Given the description of an element on the screen output the (x, y) to click on. 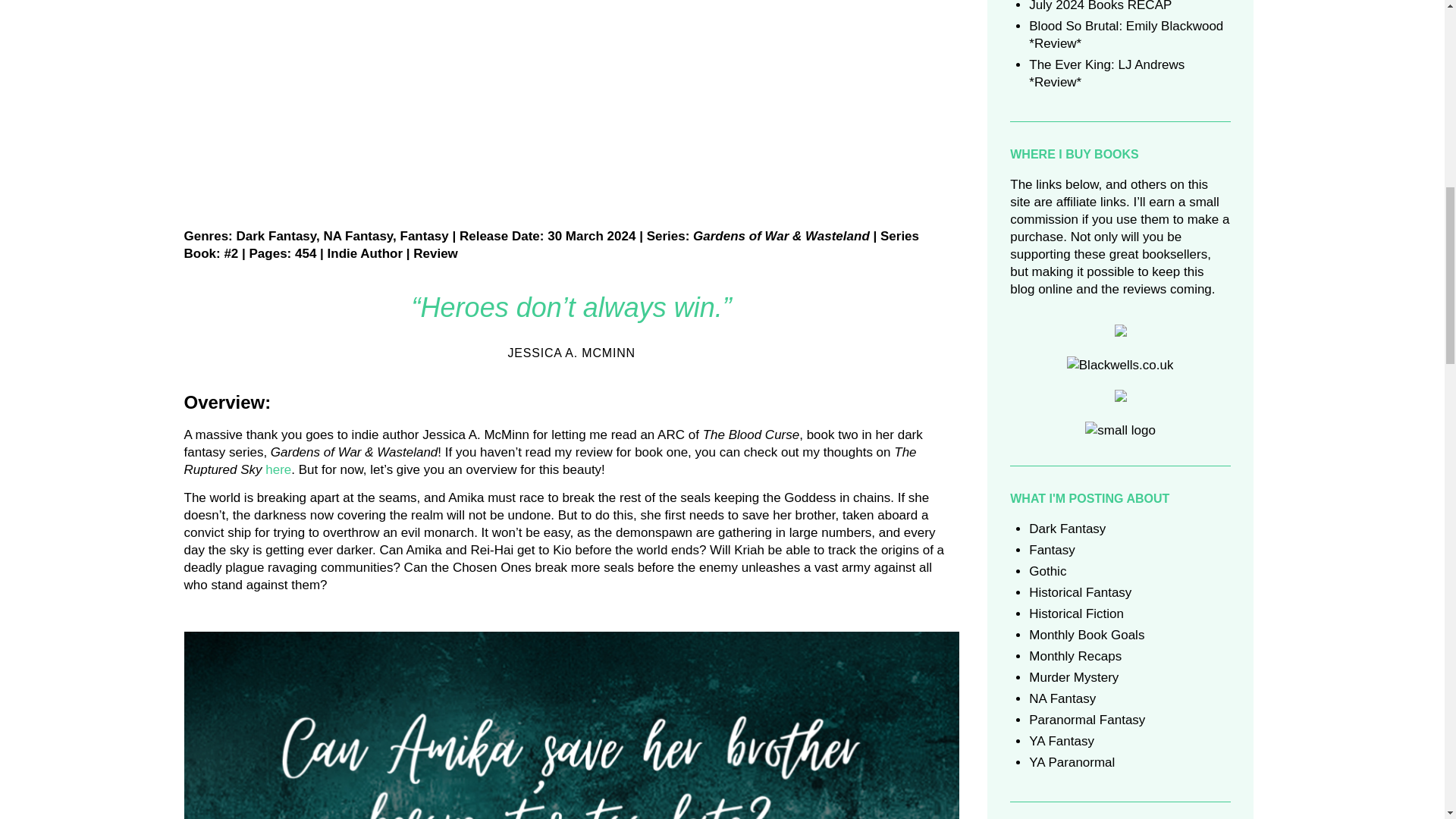
Blackwells.co.uk (1120, 364)
July 2024 Books RECAP (1100, 6)
here (277, 469)
